Given the description of an element on the screen output the (x, y) to click on. 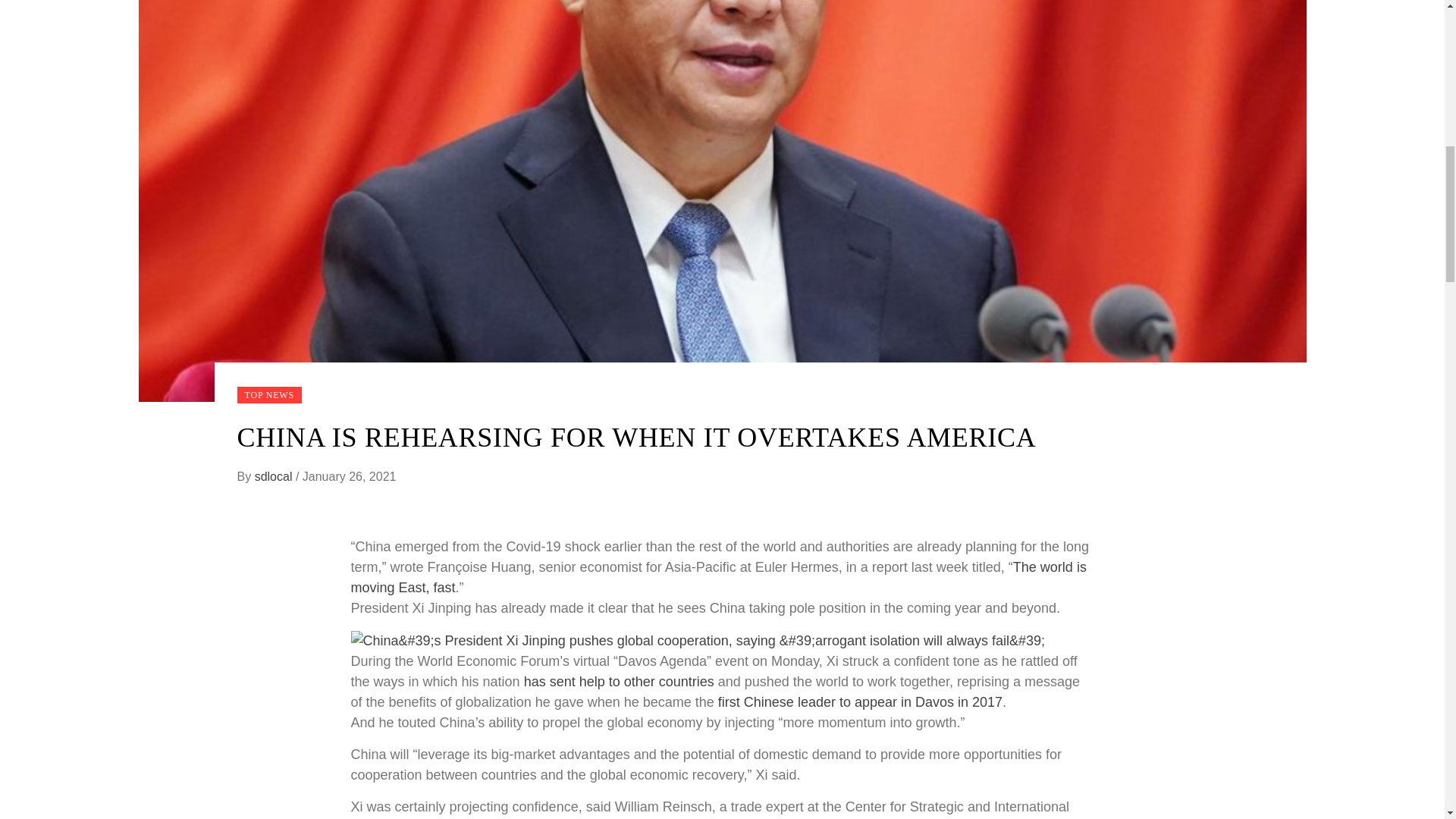
first Chinese leader to appear in Davos in 2017 (860, 702)
TOP NEWS (268, 394)
has sent help to other countries (619, 681)
sdlocal (274, 476)
The world is moving East, fast (718, 577)
